Given the description of an element on the screen output the (x, y) to click on. 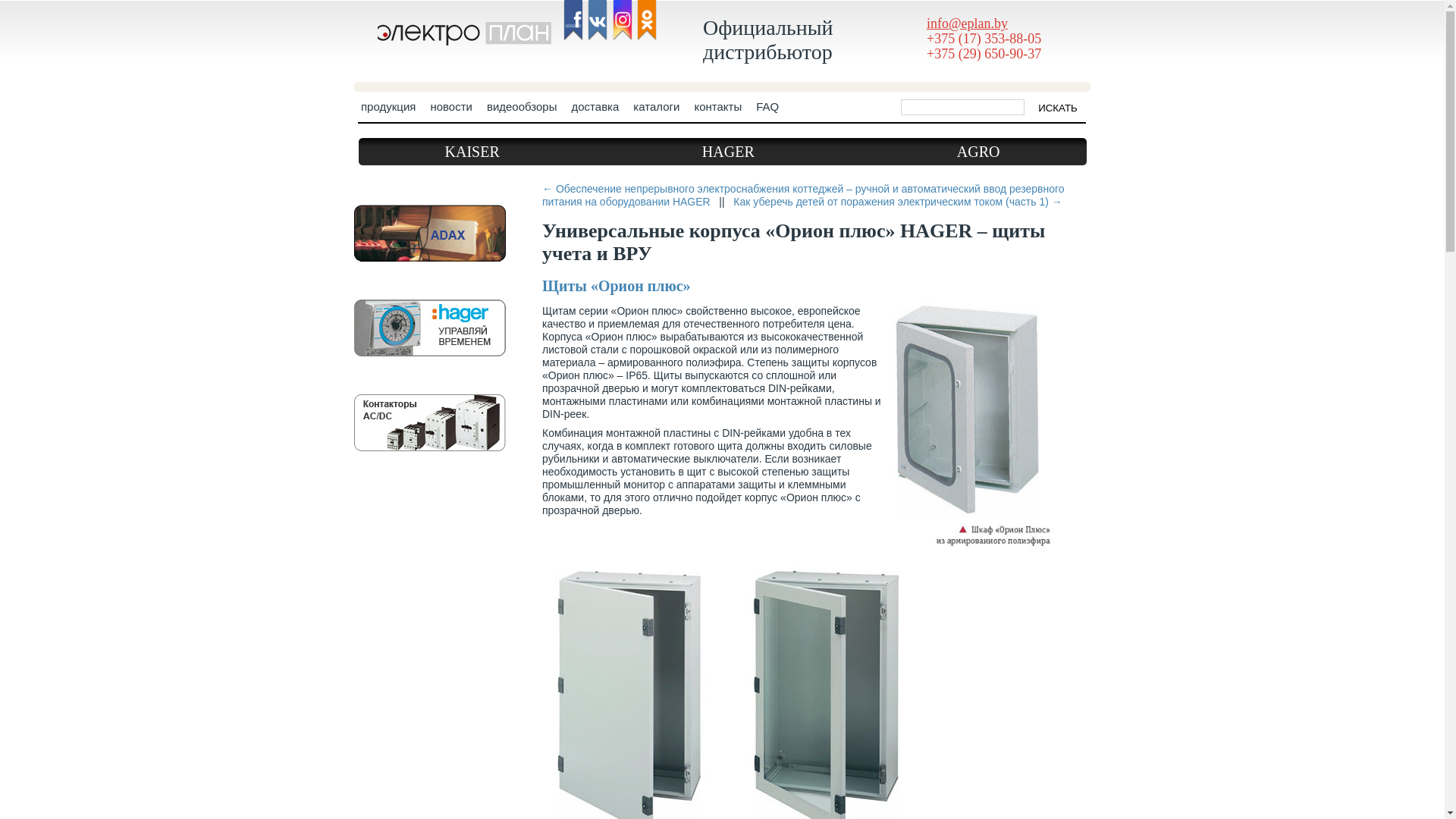
info@eplan.by Element type: text (966, 23)
AGRO Element type: text (978, 151)
FAQ Element type: text (767, 111)
KAISER Element type: text (472, 151)
HAGER Element type: text (728, 151)
